Given the description of an element on the screen output the (x, y) to click on. 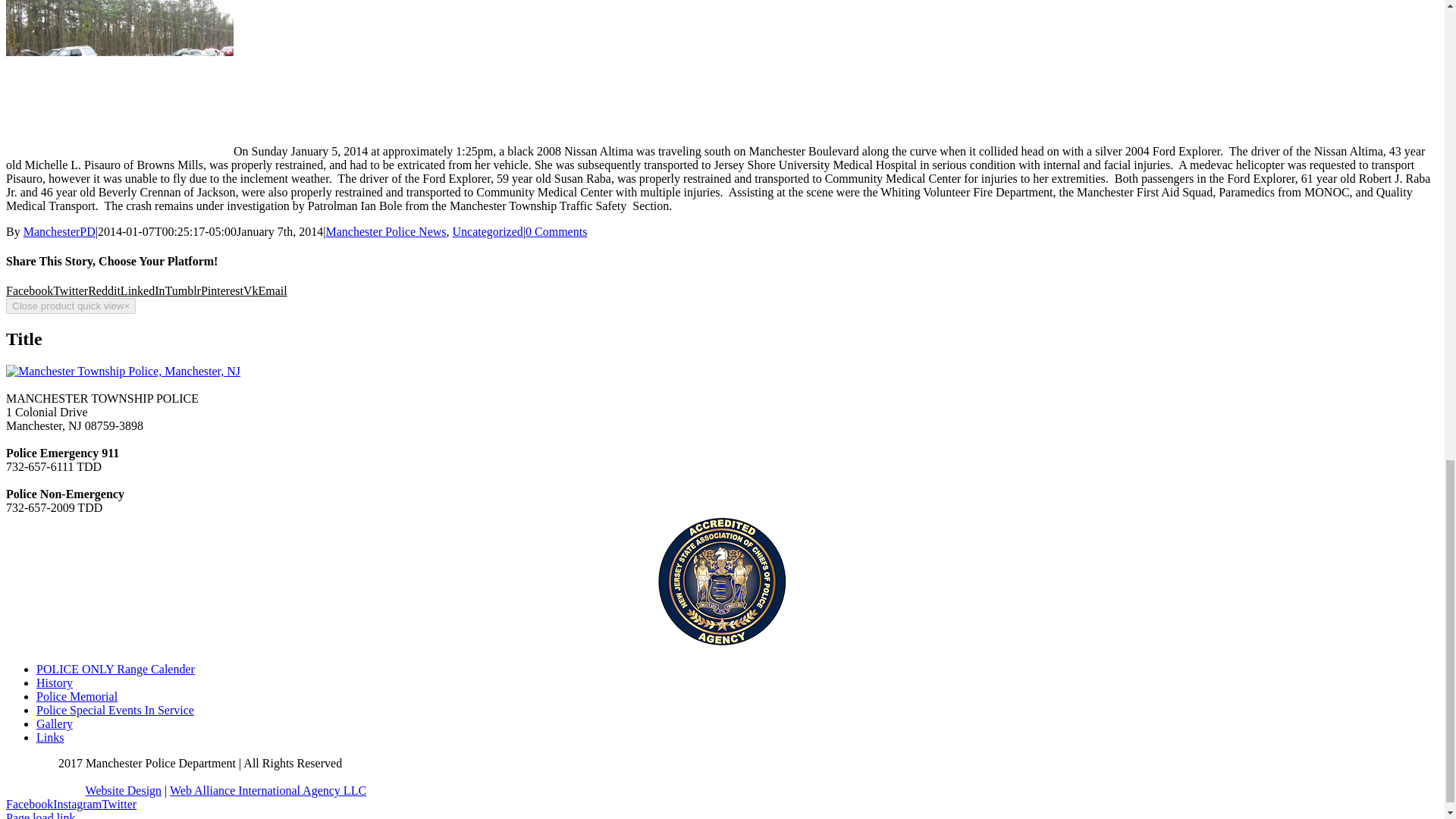
Vk (251, 290)
LinkedIn (142, 290)
Instagram (76, 803)
Tumblr (182, 290)
Twitter (69, 290)
Facebook (28, 803)
Facebook (28, 290)
Posts by ManchesterPD (59, 231)
Reddit (103, 290)
Pinterest (221, 290)
Email (272, 290)
Twitter (118, 803)
